Given the description of an element on the screen output the (x, y) to click on. 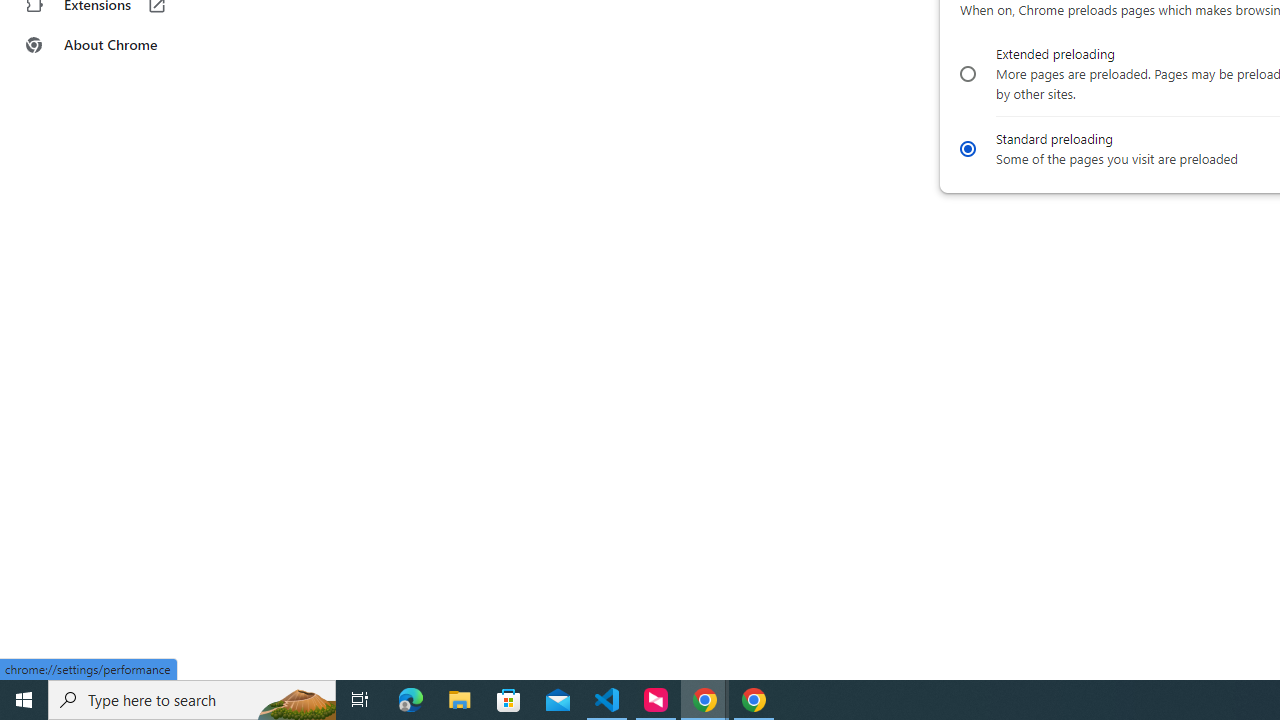
About Chrome (124, 44)
Extended preloading (966, 74)
Standard preloading (966, 147)
